Given the description of an element on the screen output the (x, y) to click on. 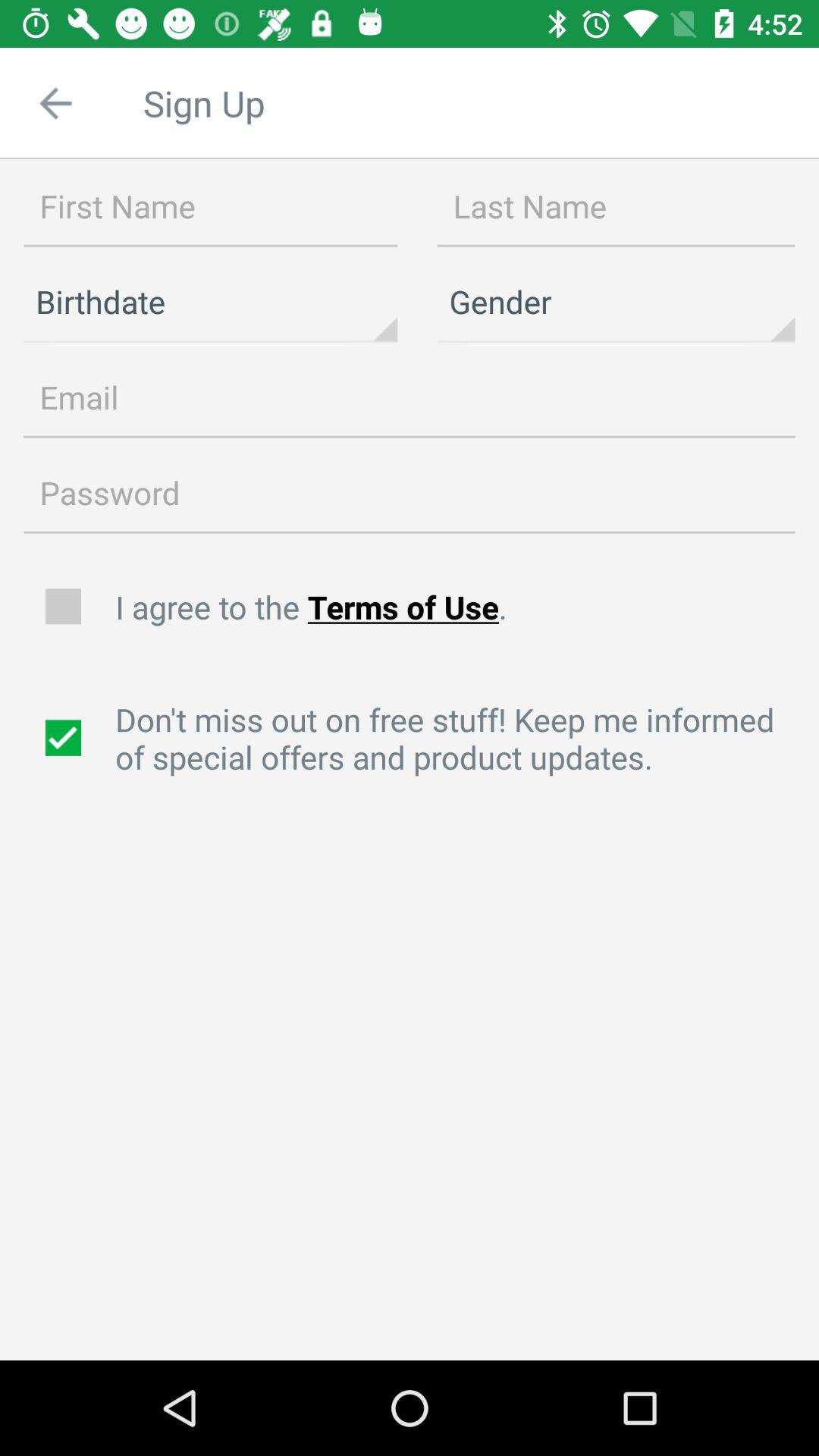
enter last name (616, 206)
